Given the description of an element on the screen output the (x, y) to click on. 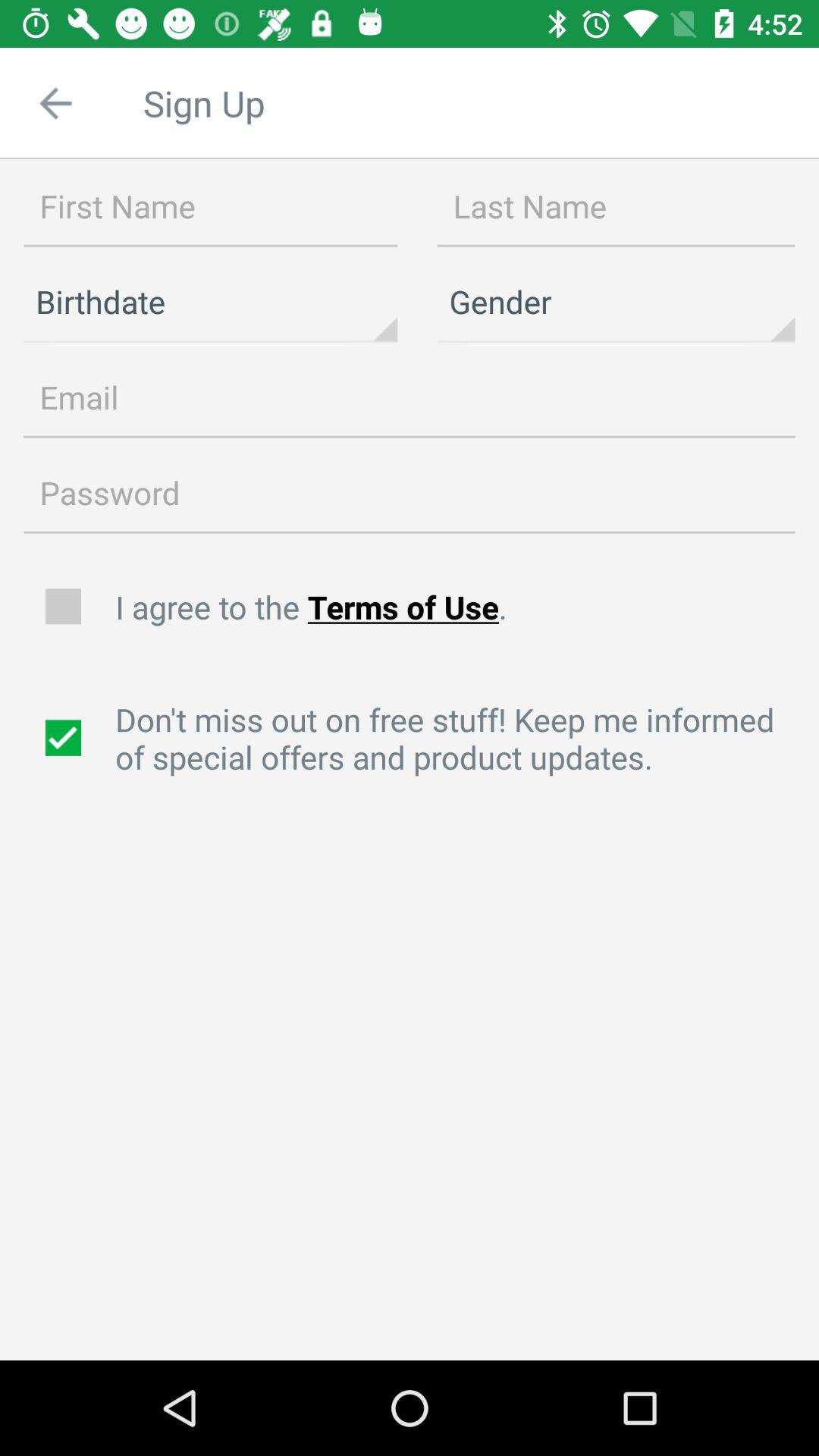
enter last name (616, 206)
